Given the description of an element on the screen output the (x, y) to click on. 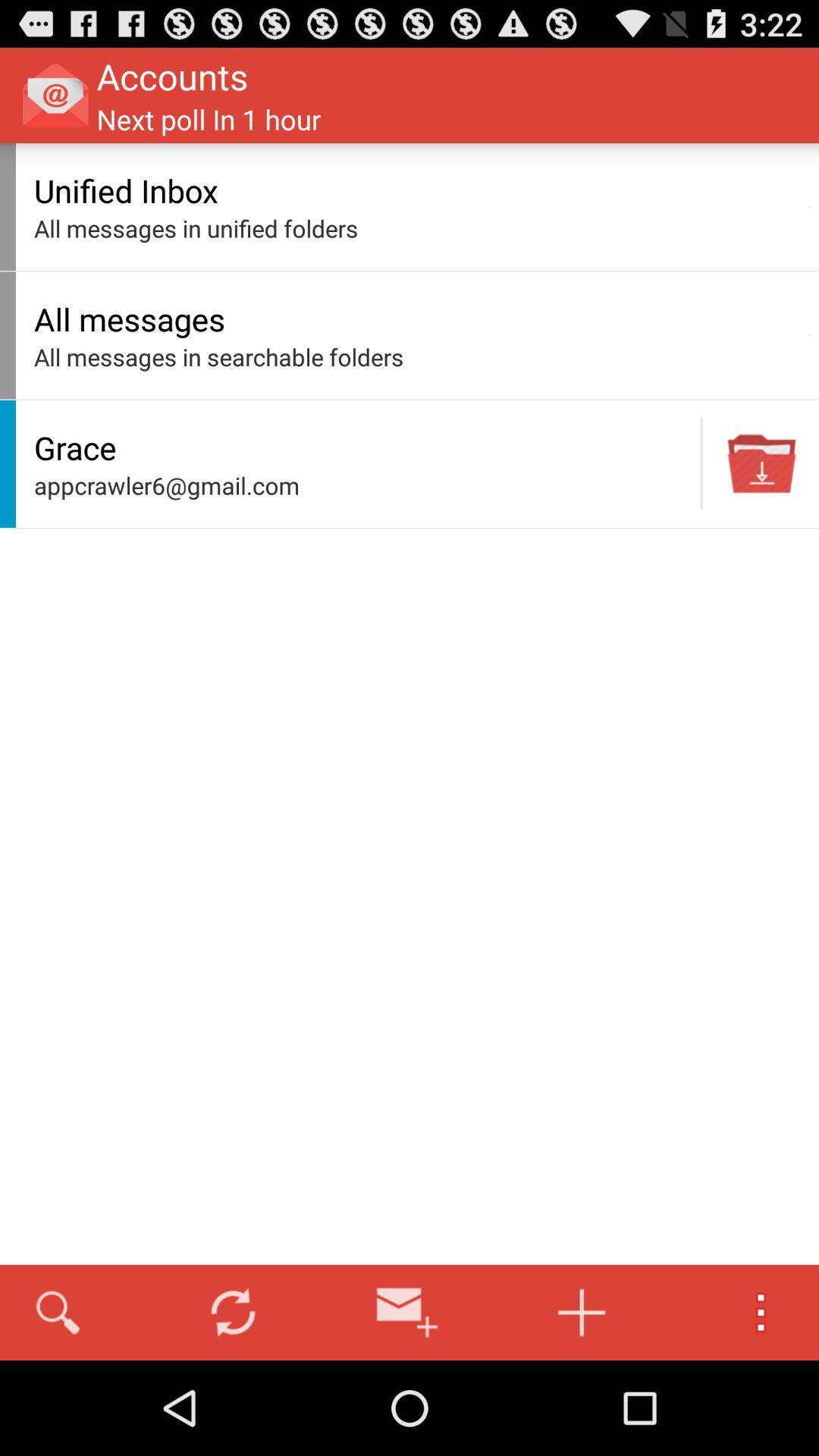
tap the app next to the grace icon (701, 463)
